Given the description of an element on the screen output the (x, y) to click on. 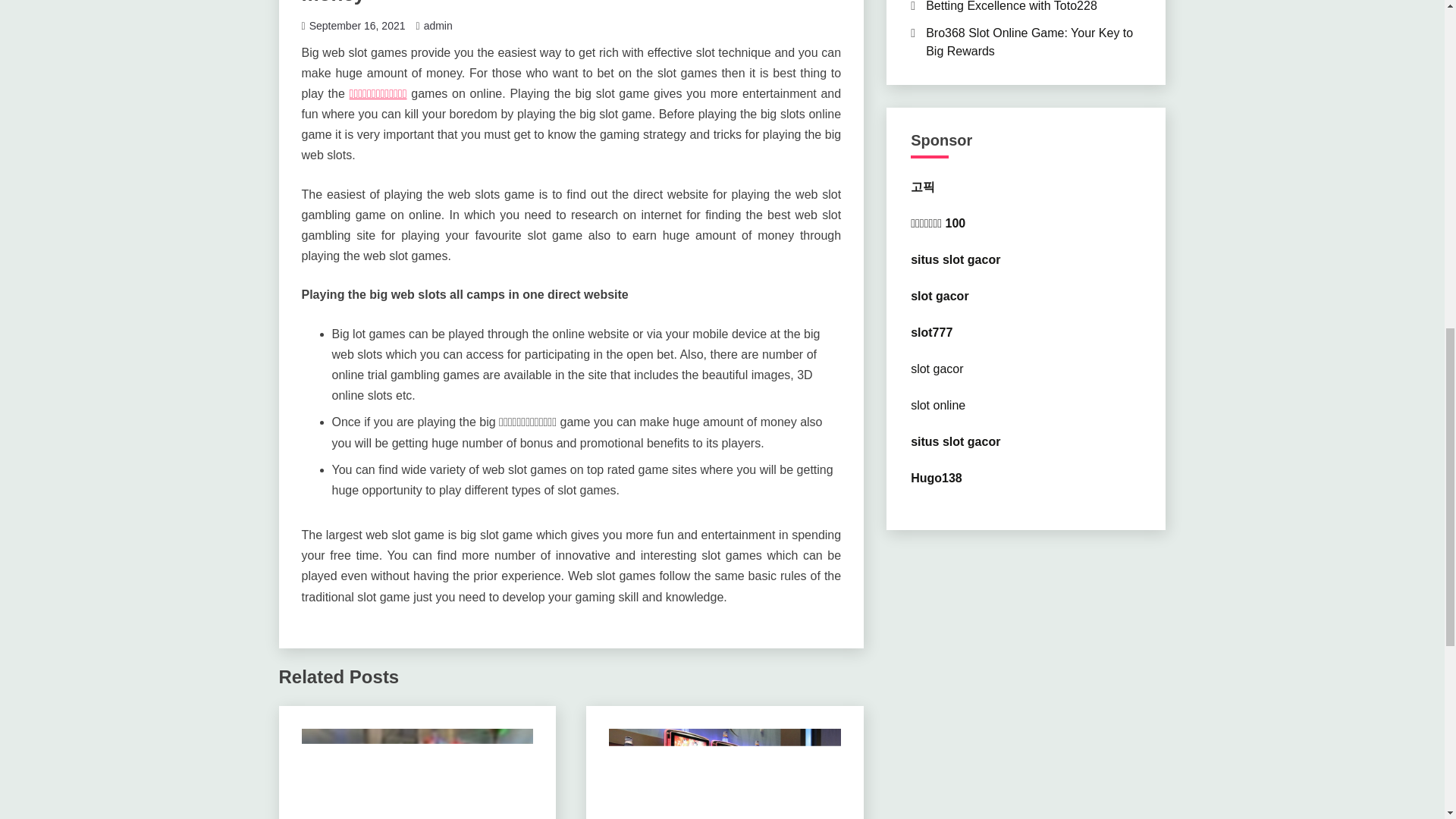
September 16, 2021 (357, 25)
Betting Excellence with Toto228 (1011, 6)
admin (437, 25)
